Given the description of an element on the screen output the (x, y) to click on. 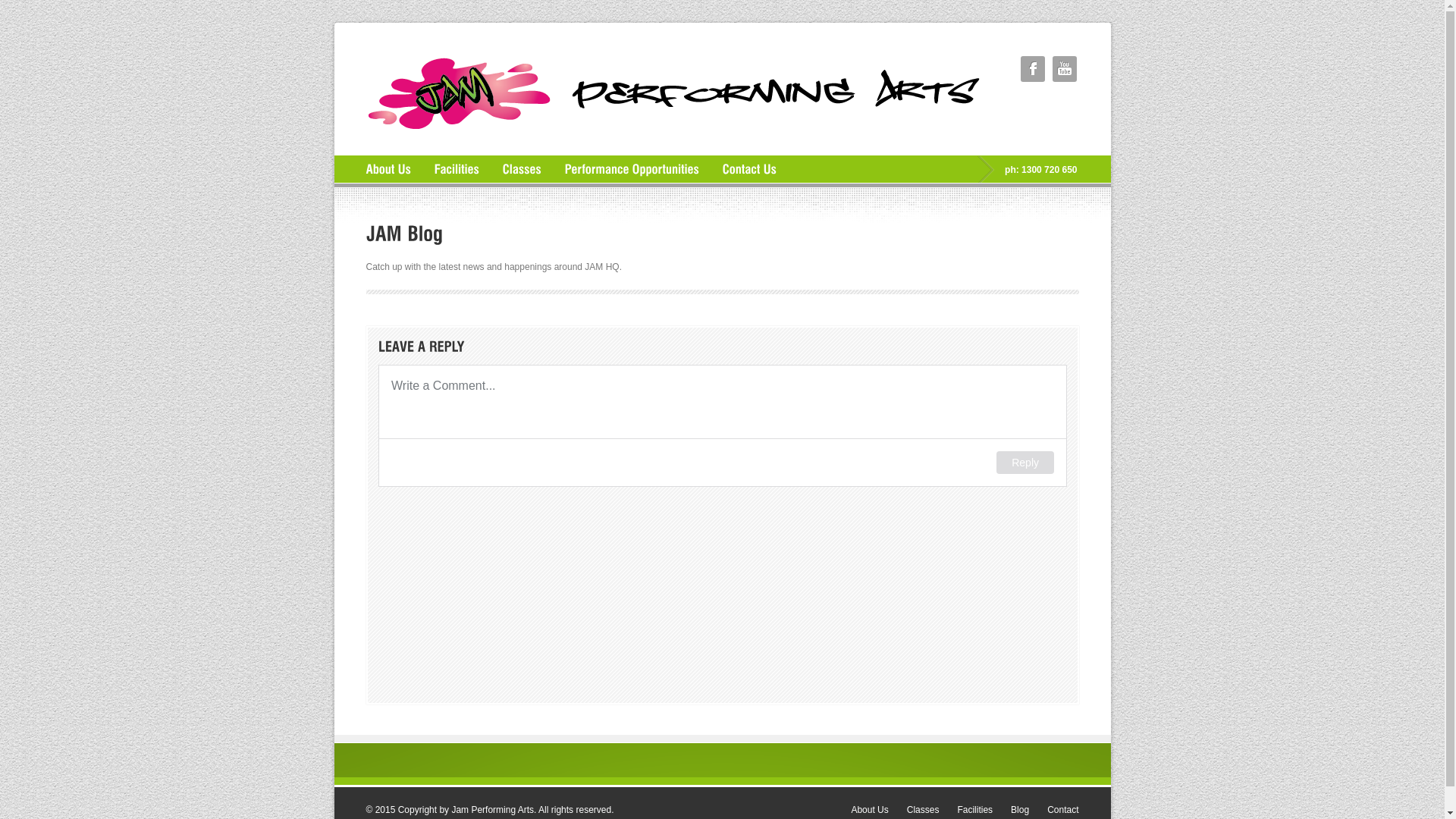
Classes Element type: text (922, 809)
Facilities Element type: text (974, 809)
Comment Form Element type: hover (721, 527)
About Us Element type: text (869, 809)
Whatch us on Youtube. Element type: hover (1064, 68)
Blog Element type: text (1019, 809)
Facebook Element type: hover (1032, 68)
Contact Element type: text (1062, 809)
